Given the description of an element on the screen output the (x, y) to click on. 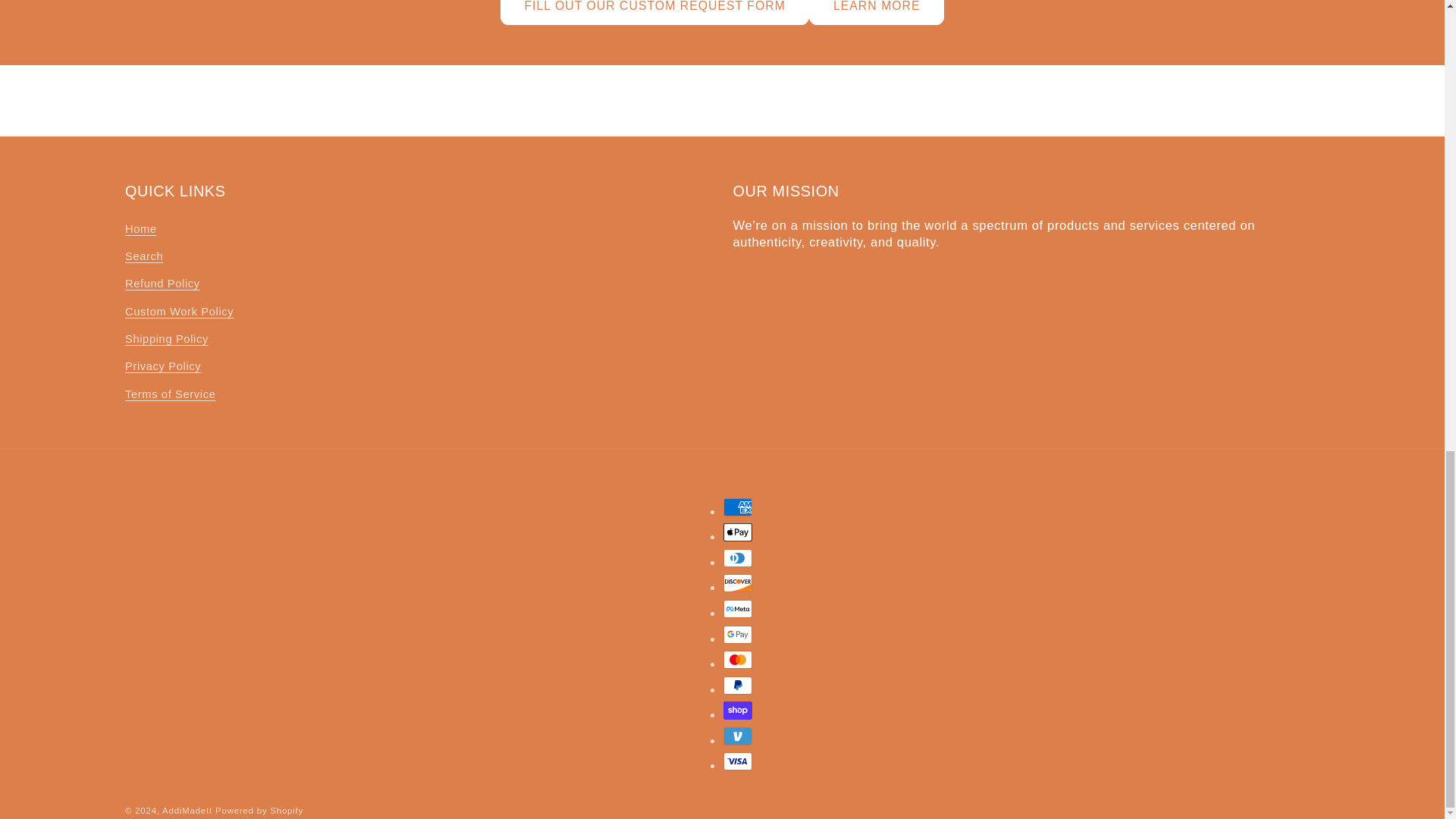
Google Pay (737, 633)
Apple Pay (737, 532)
American Express (737, 506)
Discover (737, 583)
Diners Club (737, 557)
Shop Pay (737, 710)
Visa (737, 761)
Mastercard (737, 659)
PayPal (737, 685)
Meta Pay (737, 608)
